Given the description of an element on the screen output the (x, y) to click on. 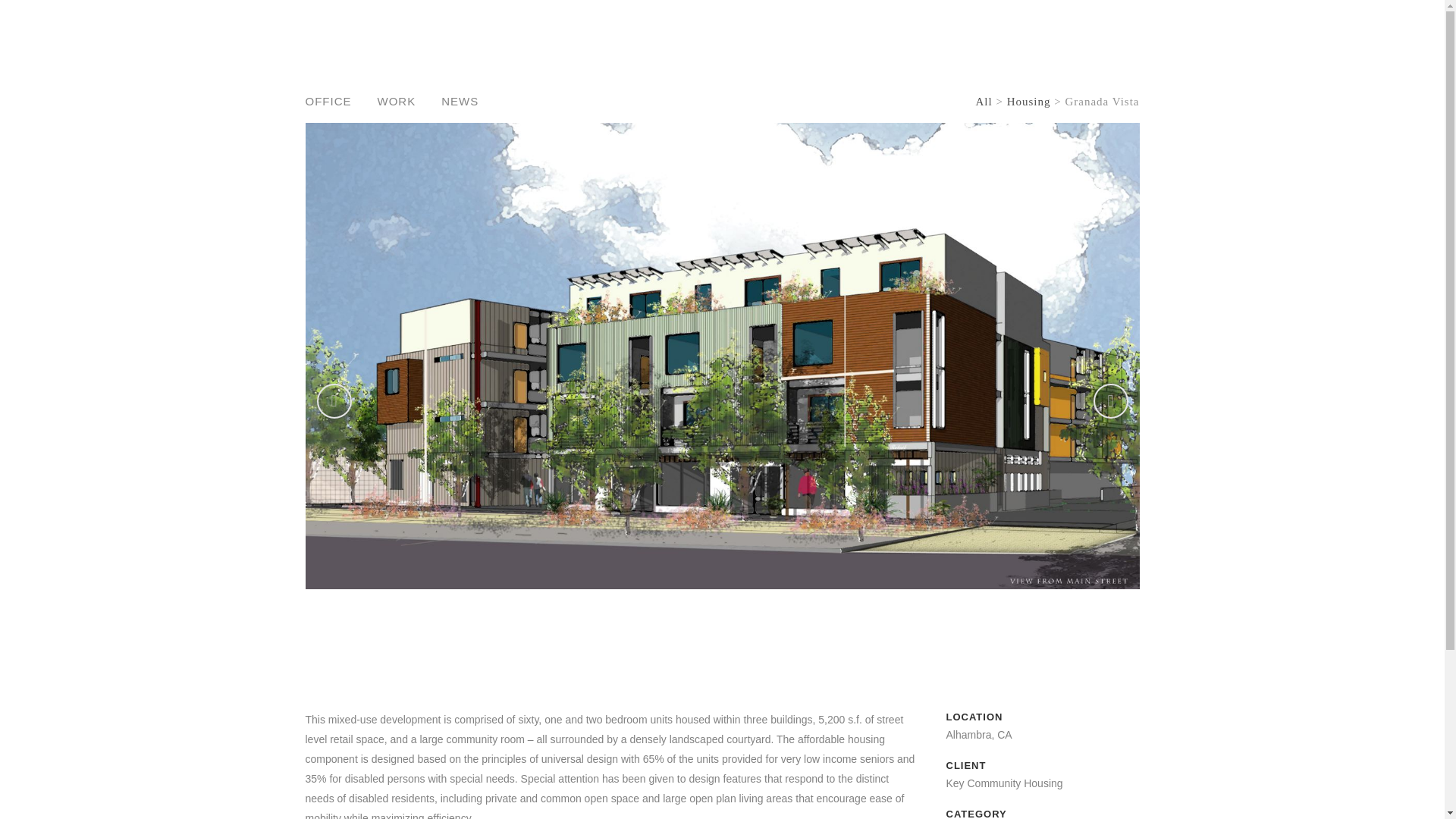
All (983, 101)
Housing (1030, 101)
